Given the description of an element on the screen output the (x, y) to click on. 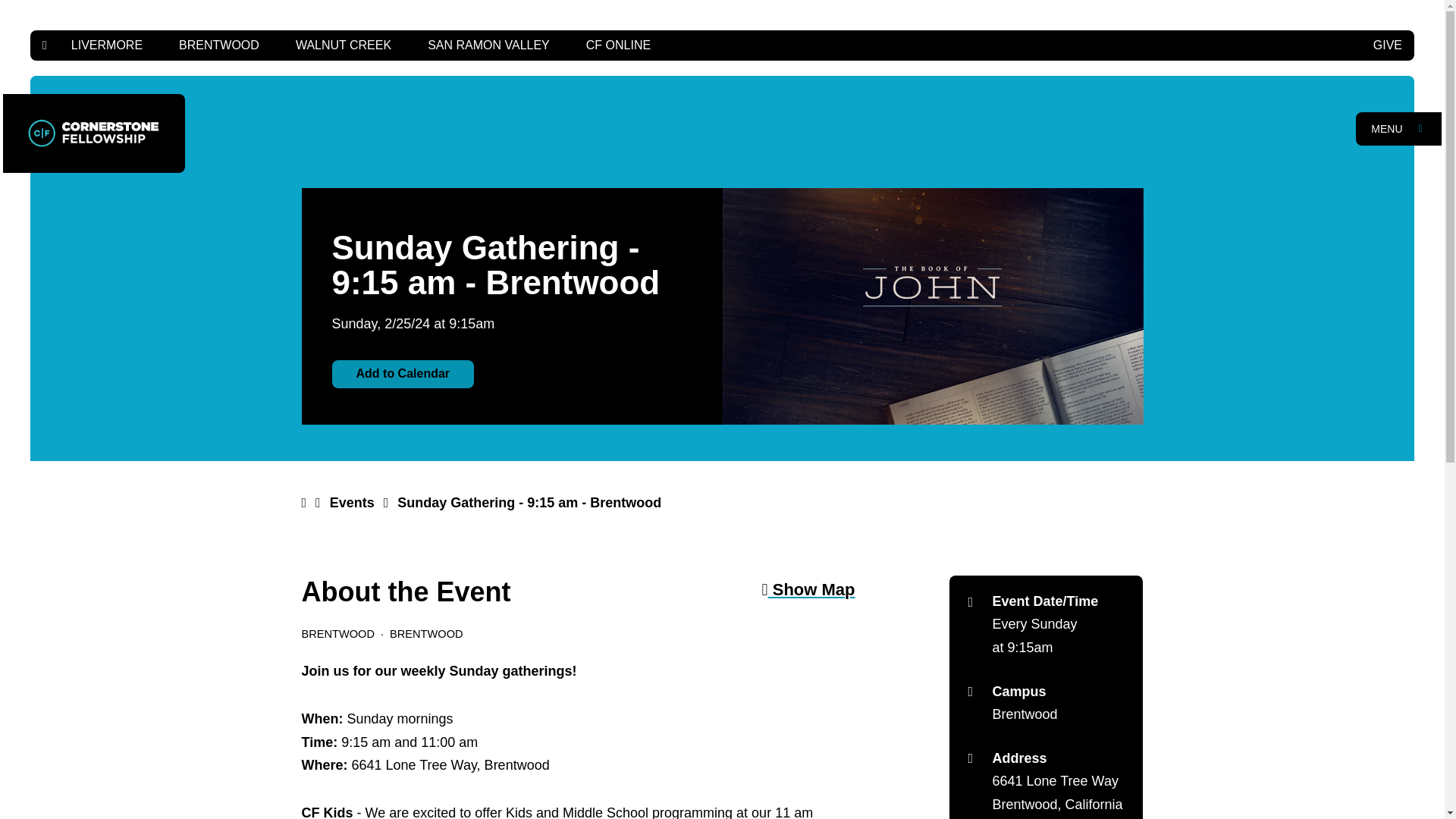
LIVERMORE (106, 45)
MENU (1398, 128)
BRENTWOOD (218, 45)
SAN RAMON VALLEY (488, 45)
WALNUT CREEK (343, 45)
GIVE (1387, 45)
CF ONLINE (617, 45)
